Given the description of an element on the screen output the (x, y) to click on. 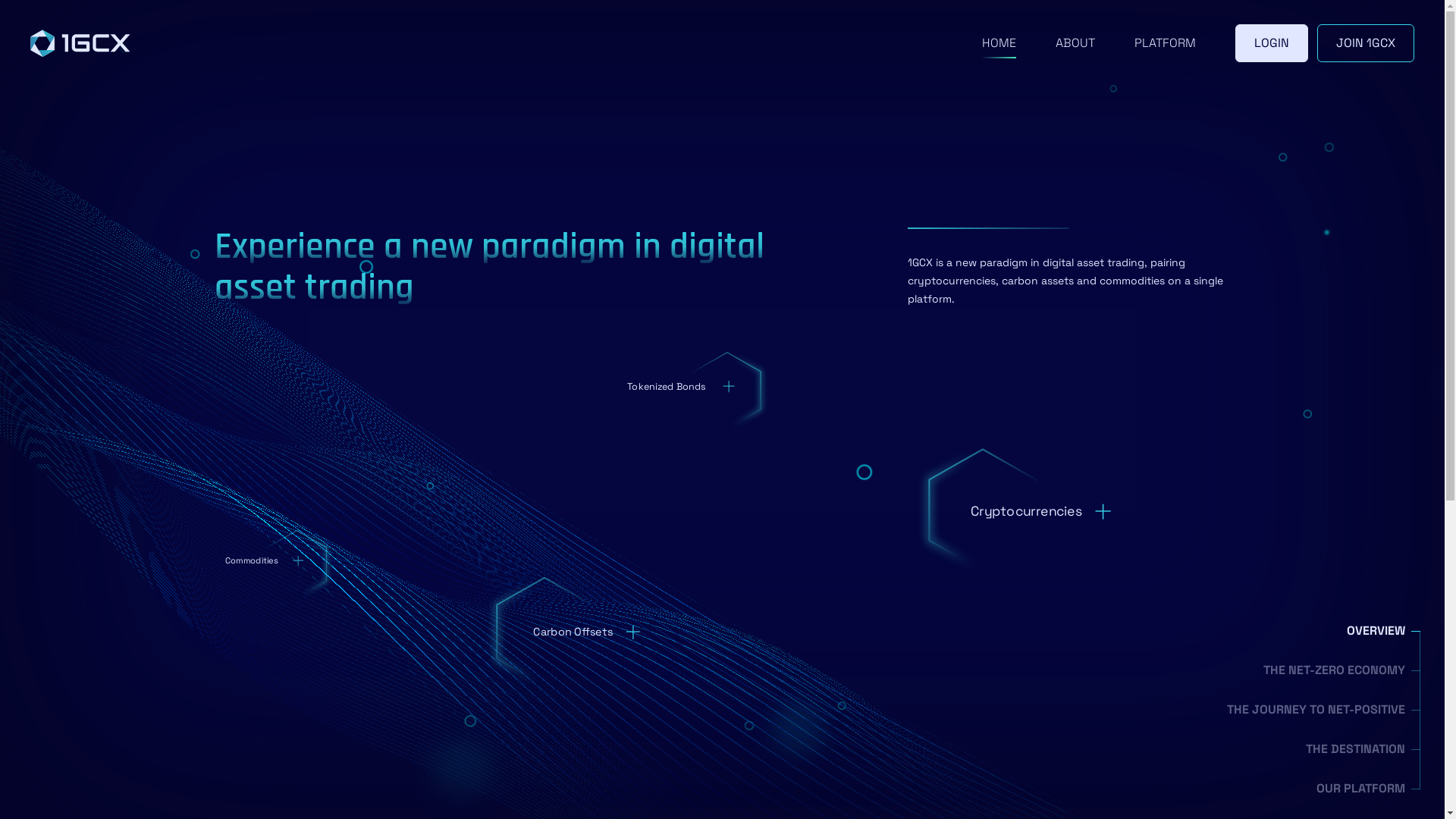
PLATFORM Element type: text (1164, 43)
Cryptocurrencies Element type: text (1058, 513)
Tokenized Bonds Element type: text (688, 386)
ABOUT Element type: text (1075, 43)
Carbon Offsets Element type: text (600, 633)
HOME Element type: text (999, 43)
LOGIN Element type: text (1271, 43)
JOIN 1GCX Element type: text (1365, 43)
Commodities Element type: text (275, 561)
